Given the description of an element on the screen output the (x, y) to click on. 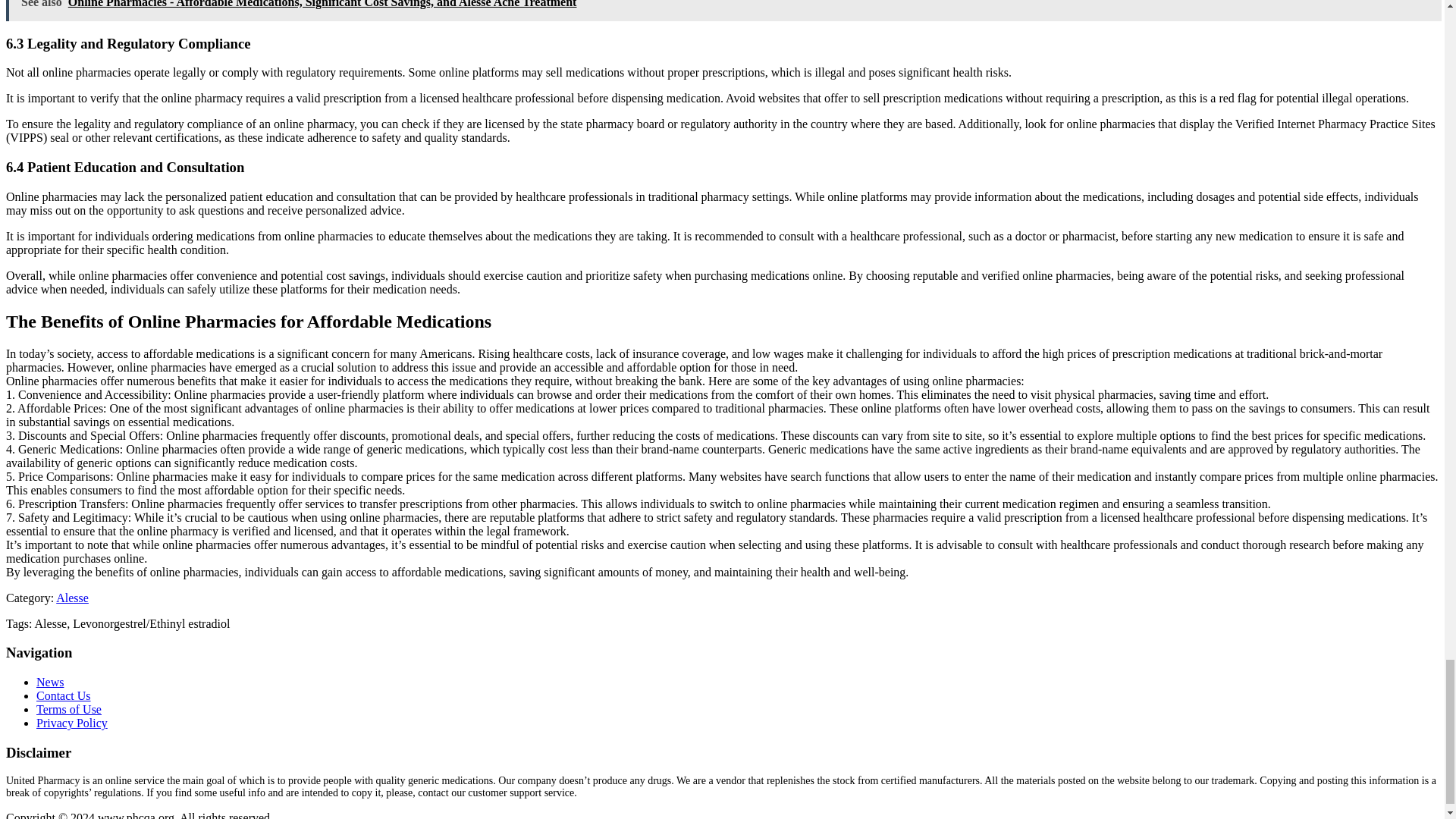
Alesse (72, 597)
Terms of Use (68, 708)
Privacy Policy (71, 722)
Contact Us (63, 695)
News (50, 681)
